Given the description of an element on the screen output the (x, y) to click on. 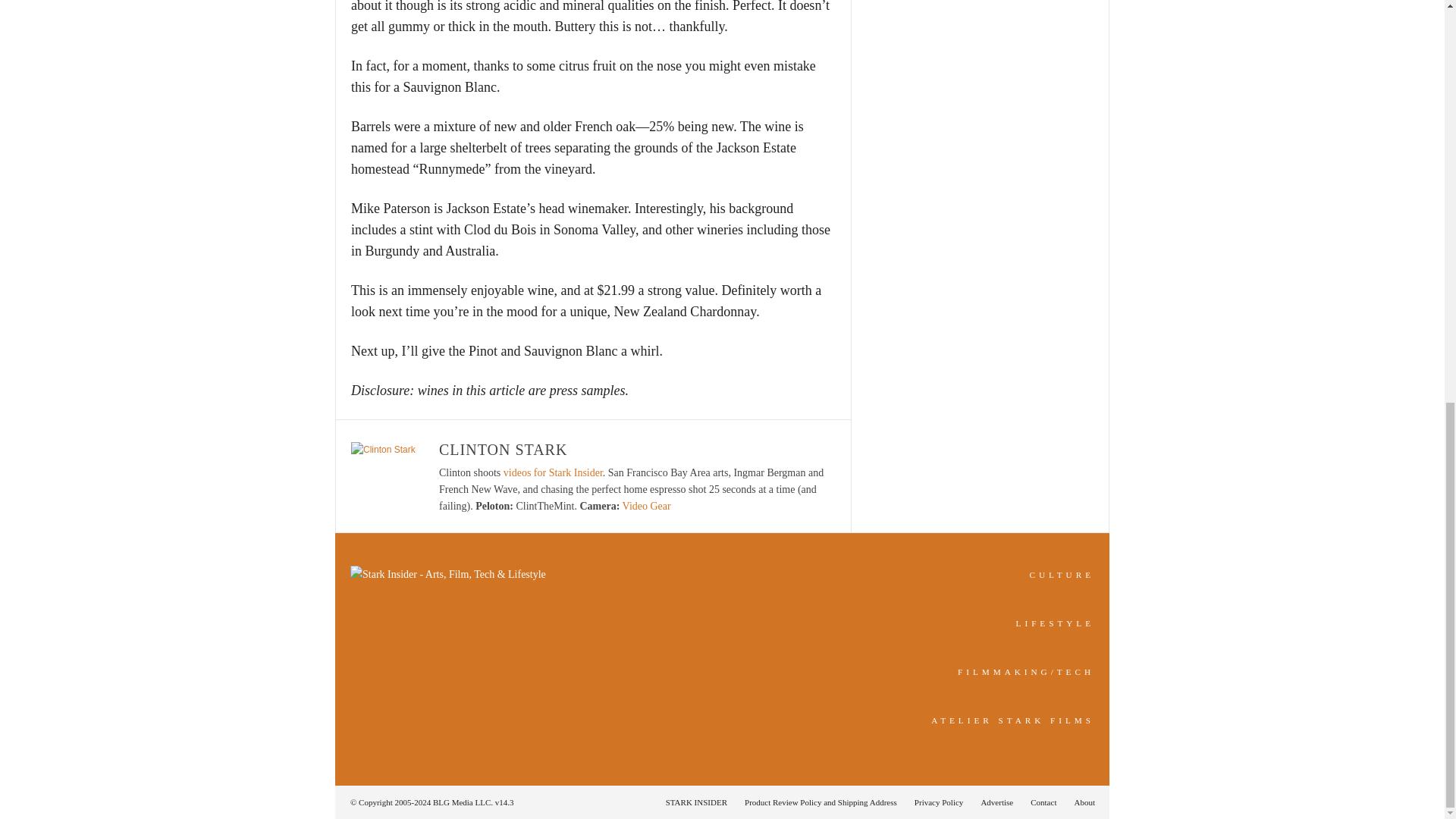
Product Review Policy and Shipping Address (820, 801)
STARK INSIDER (696, 801)
Privacy Policy (939, 801)
ATELIER STARK FILMS (1012, 719)
Contact (1043, 801)
About (1079, 801)
LIFESTYLE (1055, 623)
Indie film, music, arts in San Francisco and Silicon Valley (1061, 574)
videos for Stark Insider (552, 472)
Advertise (996, 801)
Video Gear (647, 505)
CULTURE (1061, 574)
CLINTON STARK (503, 449)
